Given the description of an element on the screen output the (x, y) to click on. 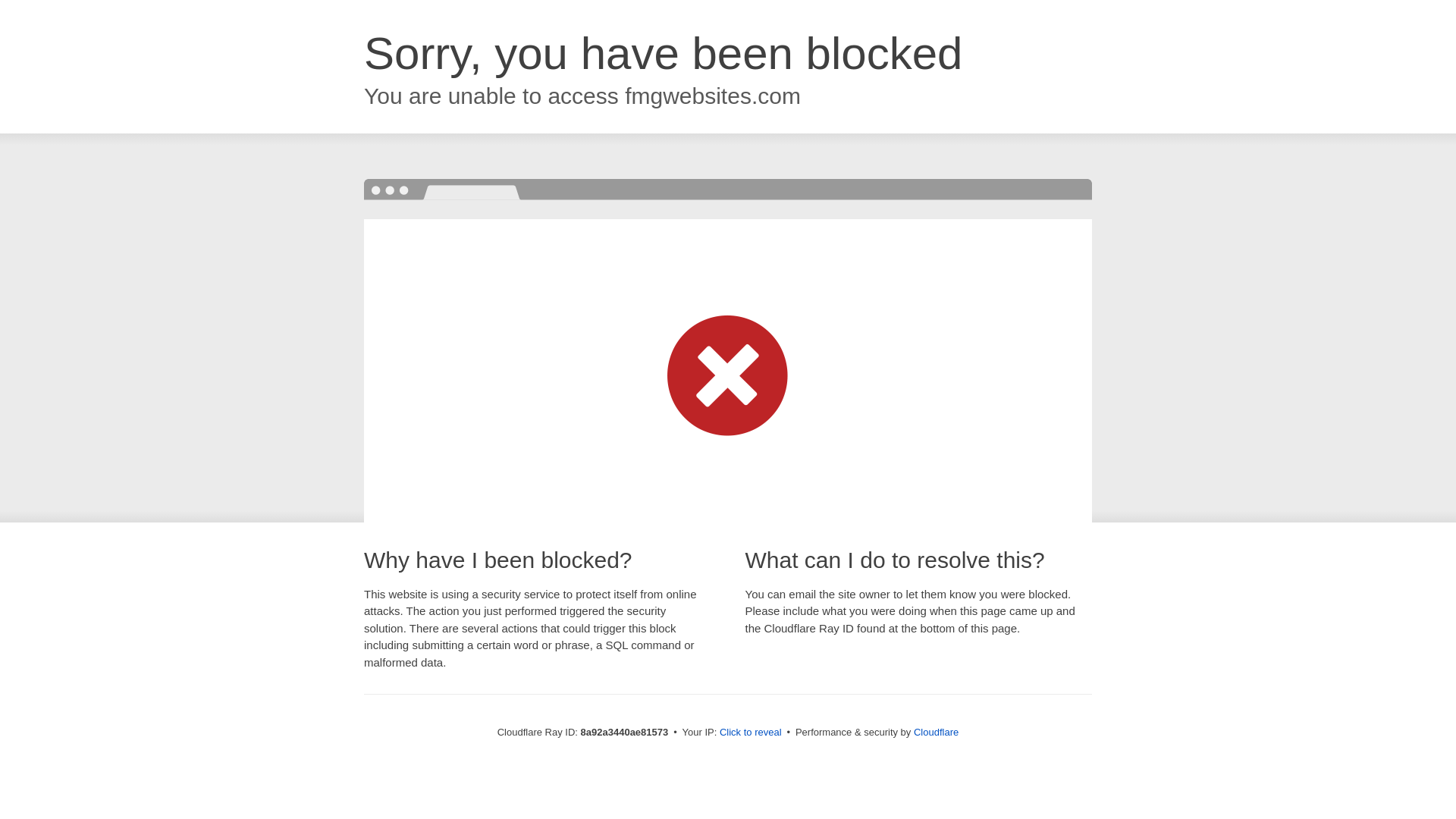
Click to reveal (750, 732)
Cloudflare (936, 731)
